Given the description of an element on the screen output the (x, y) to click on. 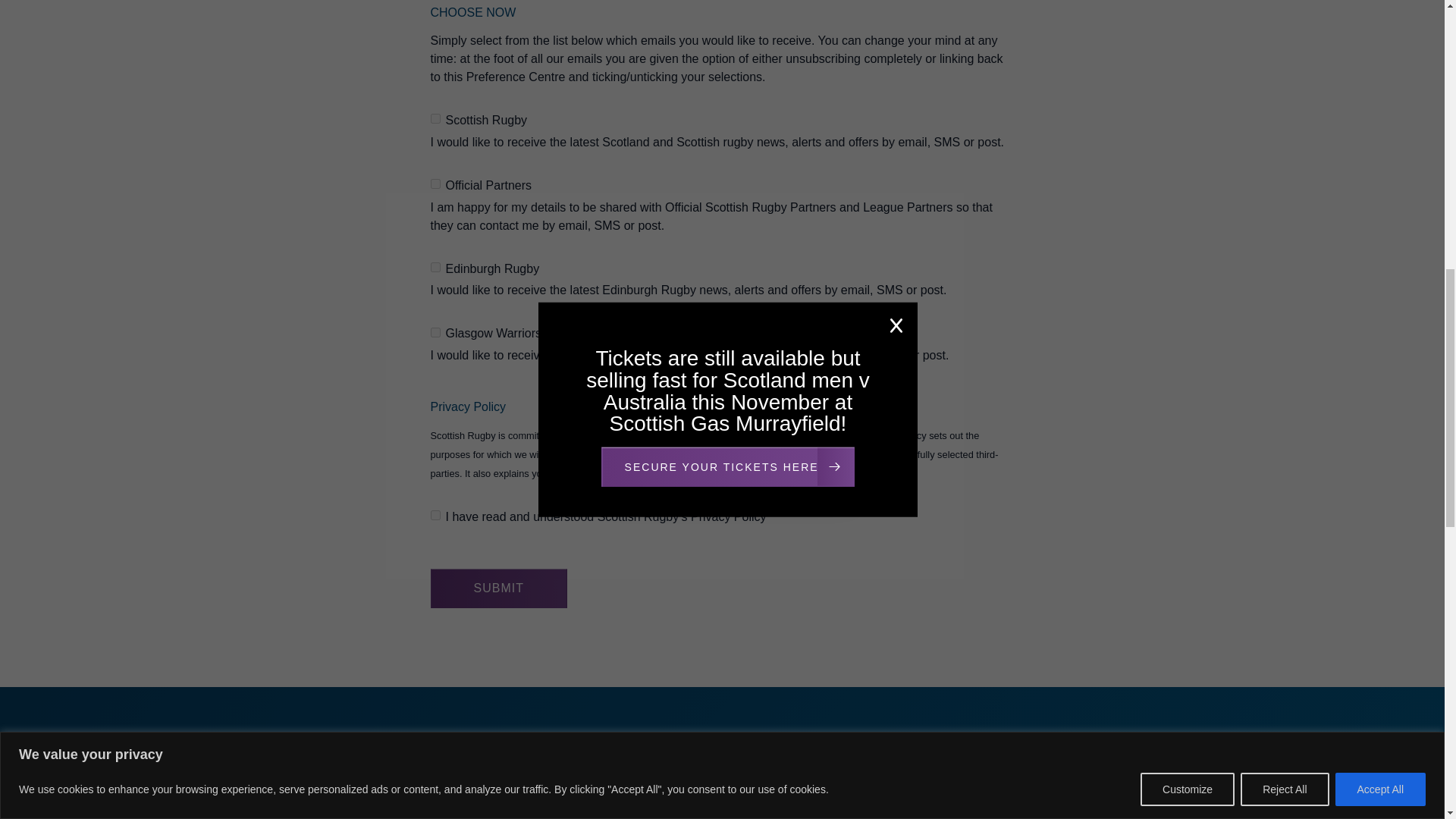
Official Partners (435, 184)
Glasgow Warriors (435, 332)
I have read and understood Scottish Rugby's Privacy Policy (435, 515)
Scottish Rugby (435, 118)
Edinburgh Rugby (435, 266)
